Given the description of an element on the screen output the (x, y) to click on. 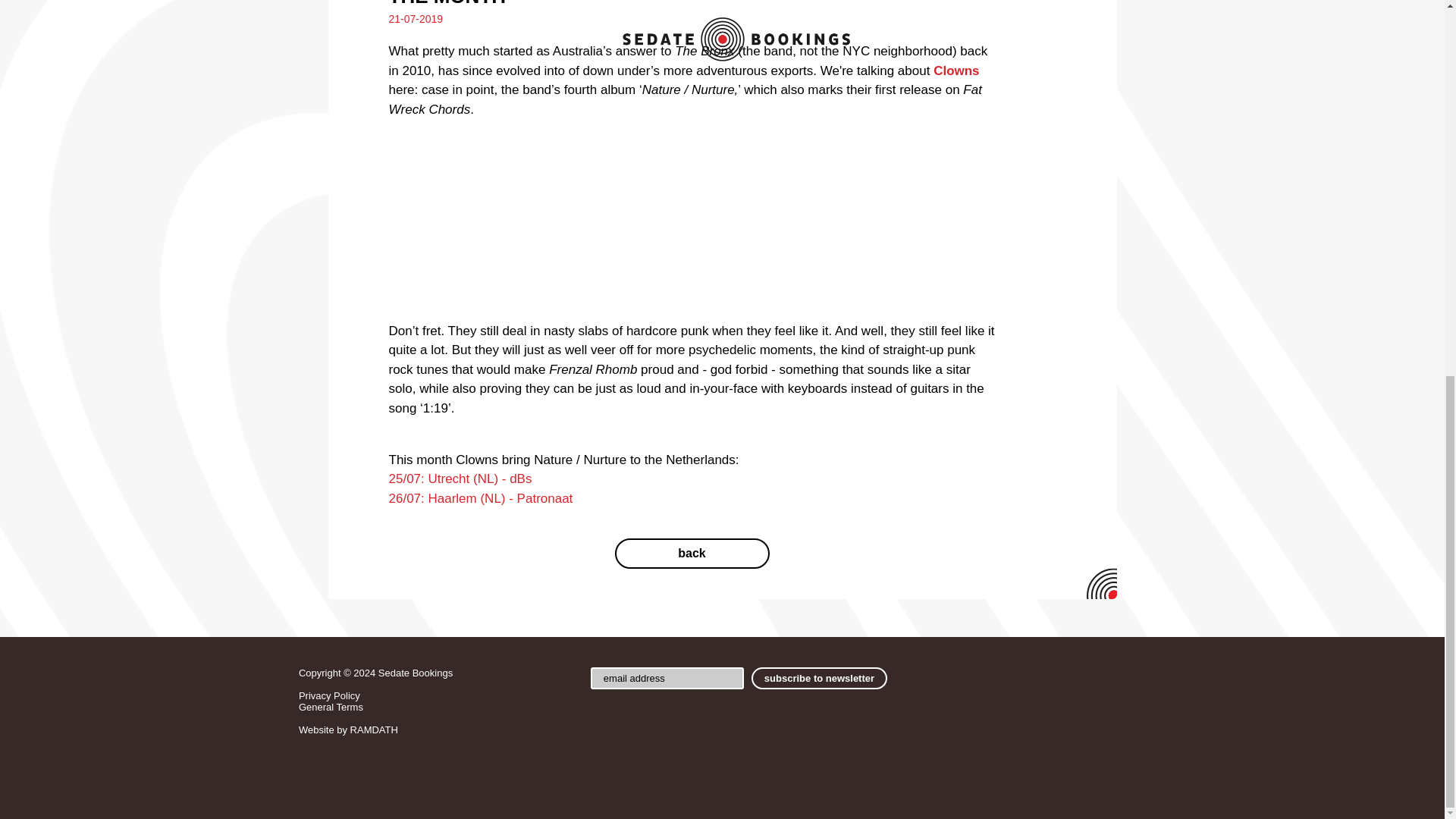
back (691, 553)
RAMDATH (373, 729)
General Terms (330, 706)
subscribe to newsletter (818, 678)
Privacy Policy (328, 695)
Clowns (955, 70)
subscribe to newsletter (818, 678)
